Given the description of an element on the screen output the (x, y) to click on. 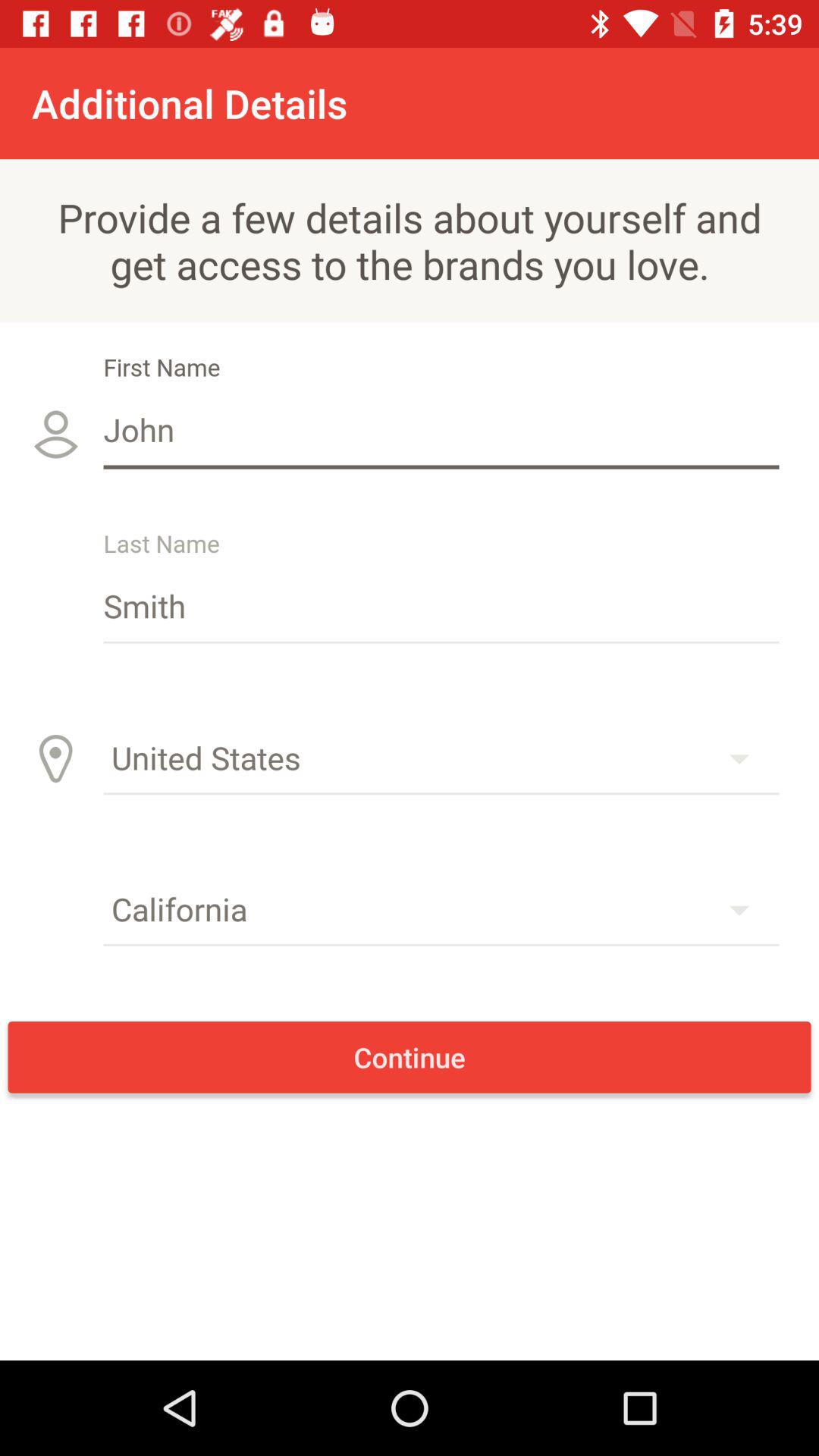
click icon above united states (441, 605)
